Given the description of an element on the screen output the (x, y) to click on. 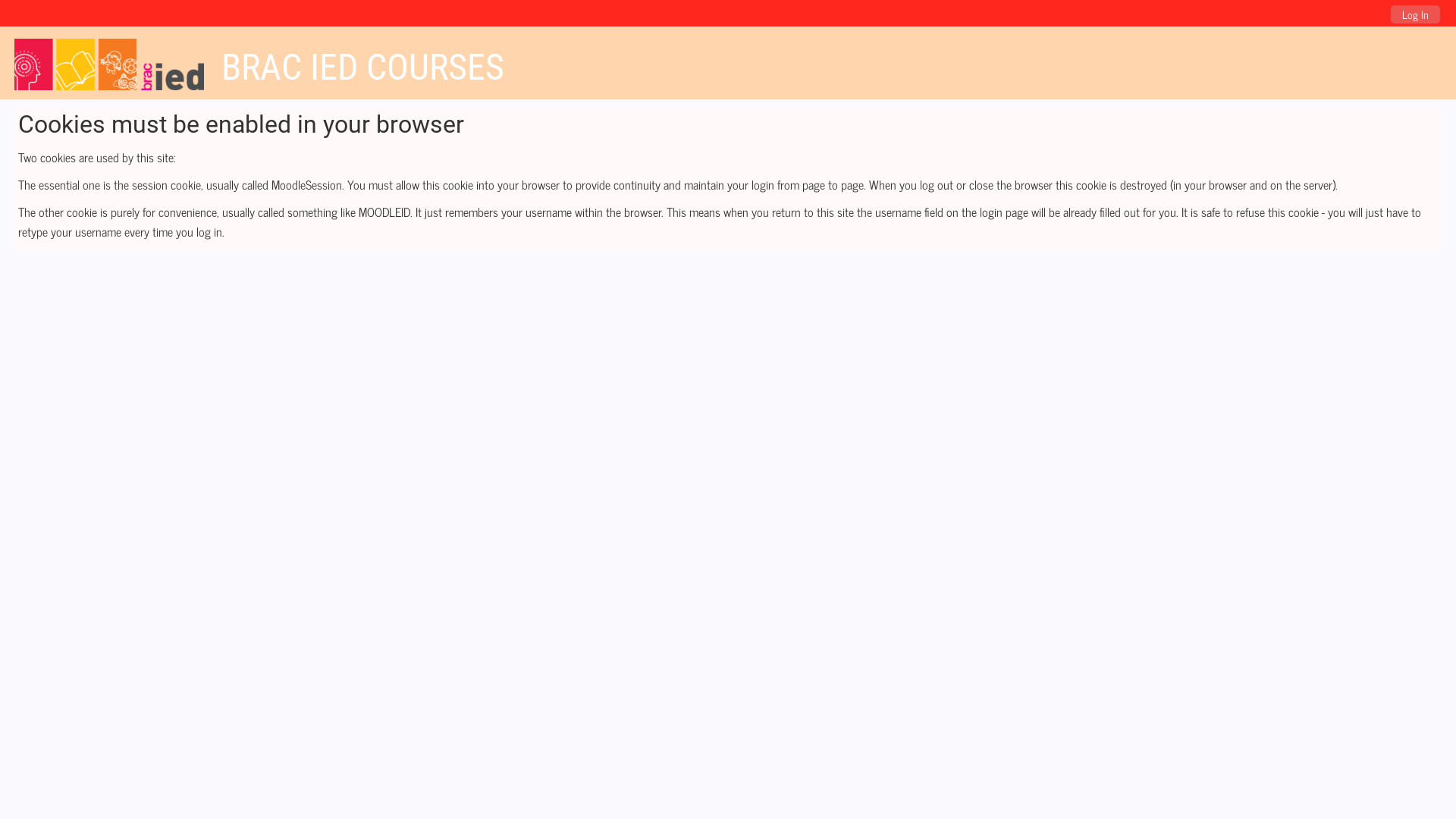
Log In Element type: text (1415, 14)
